Given the description of an element on the screen output the (x, y) to click on. 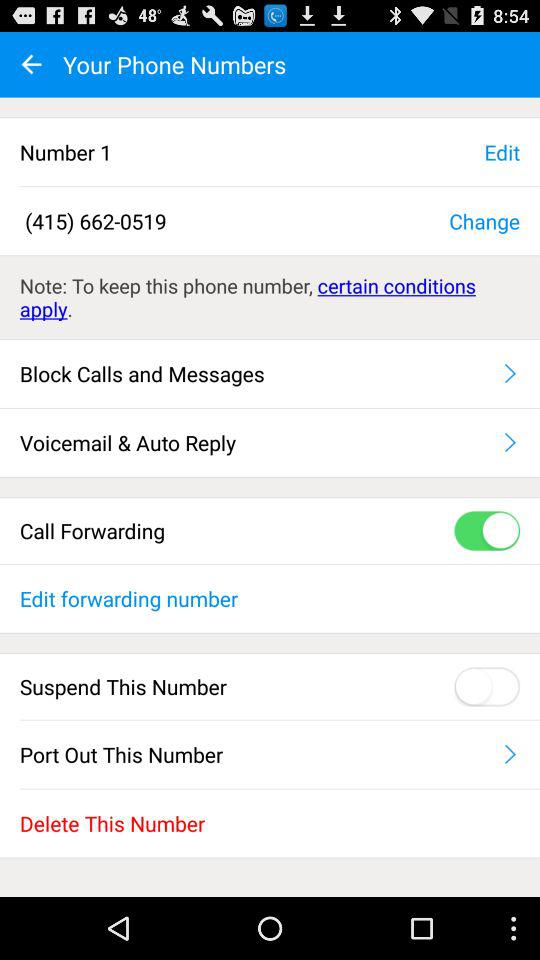
press the note to keep item (269, 297)
